Given the description of an element on the screen output the (x, y) to click on. 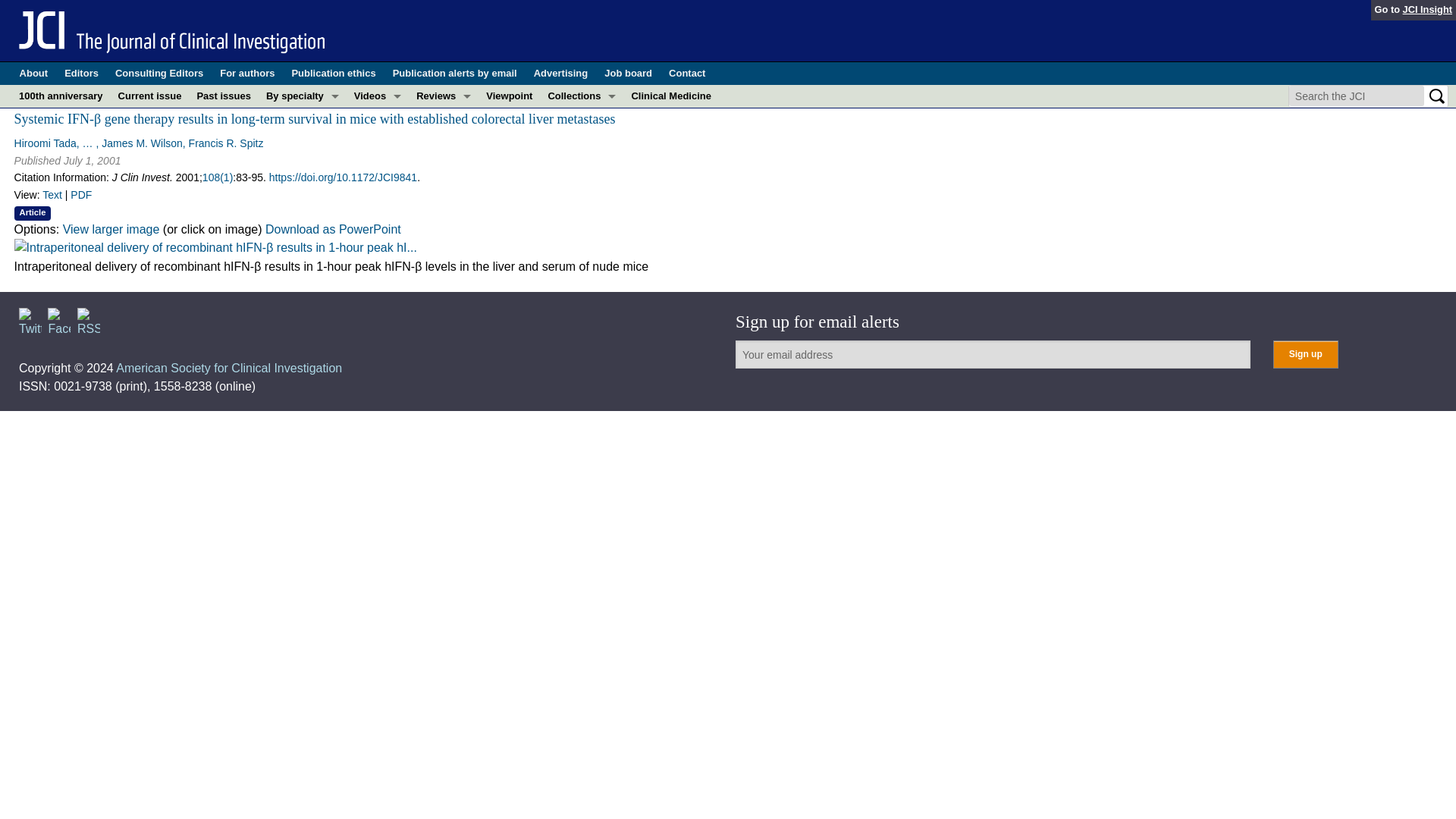
View all reviews ... (444, 137)
Videos (377, 96)
JCI Insight (1427, 9)
Past issues (224, 96)
About (34, 73)
Job board (628, 73)
Table 2 (215, 248)
COVID-19 (302, 118)
Cardiology (302, 141)
Viewpoint (509, 96)
100th anniversary (60, 96)
By specialty (302, 96)
Current issue (149, 96)
Immunology (302, 187)
Advertising (561, 73)
